Given the description of an element on the screen output the (x, y) to click on. 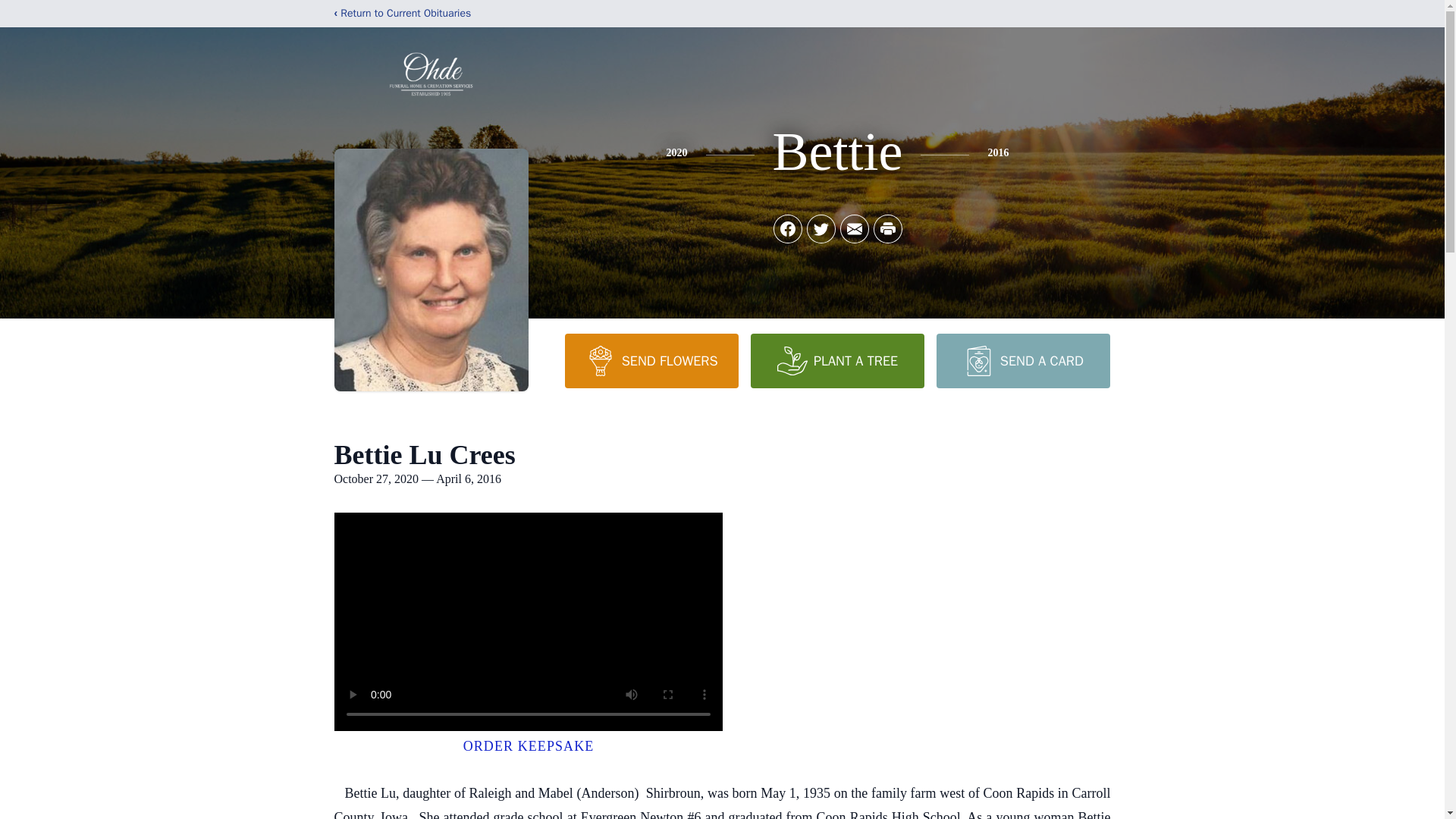
PLANT A TREE (837, 360)
SEND A CARD (1022, 360)
SEND FLOWERS (651, 360)
